Given the description of an element on the screen output the (x, y) to click on. 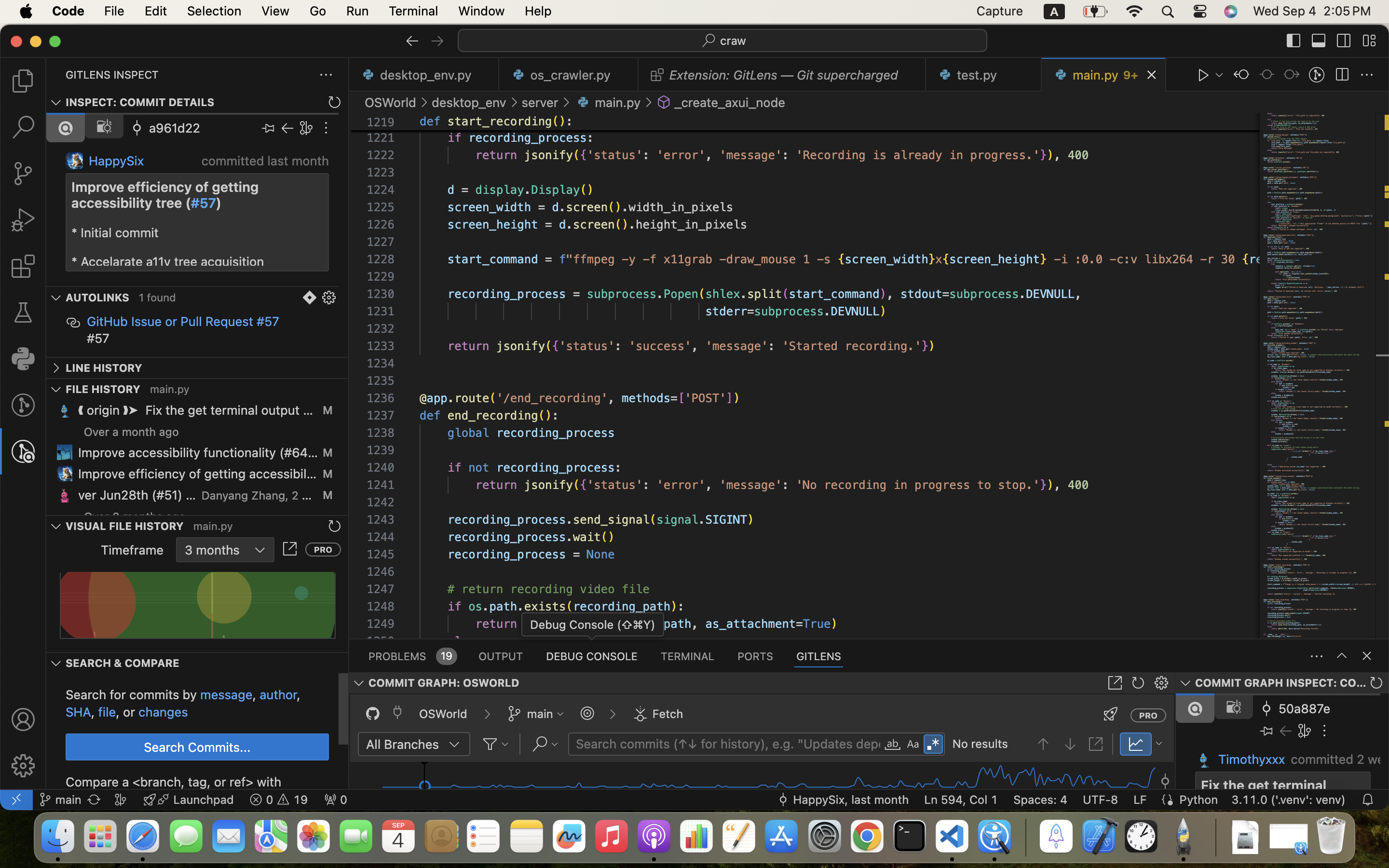
 Element type: AXStaticText (22, 719)
main Element type: AXStaticText (539, 713)
0 DEBUG CONSOLE Element type: AXRadioButton (591, 655)
 Element type: AXGroup (23, 312)
 Element type: AXCheckBox (892, 744)
